Given the description of an element on the screen output the (x, y) to click on. 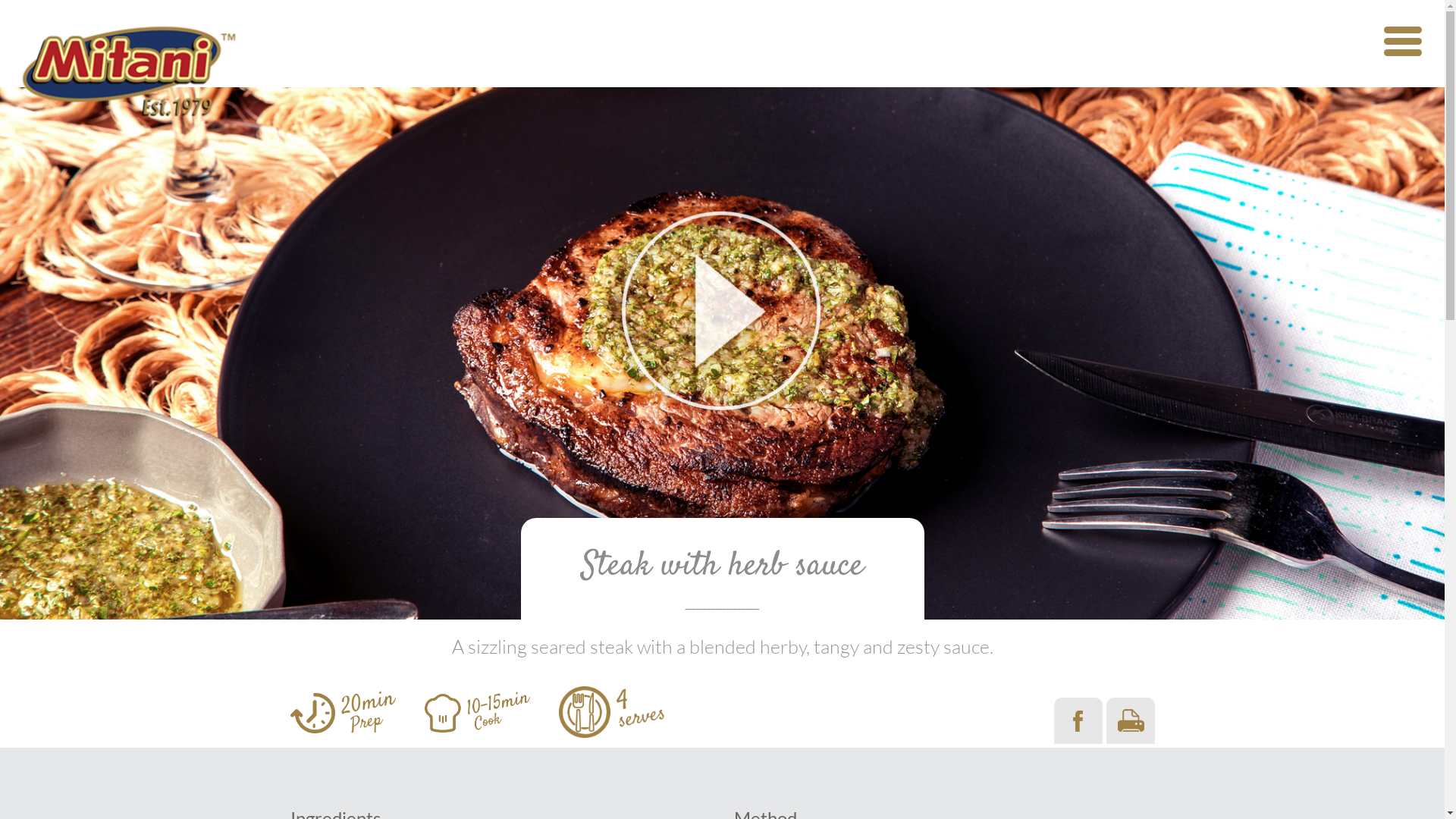
Share on Facebook Element type: hover (1078, 720)
